Given the description of an element on the screen output the (x, y) to click on. 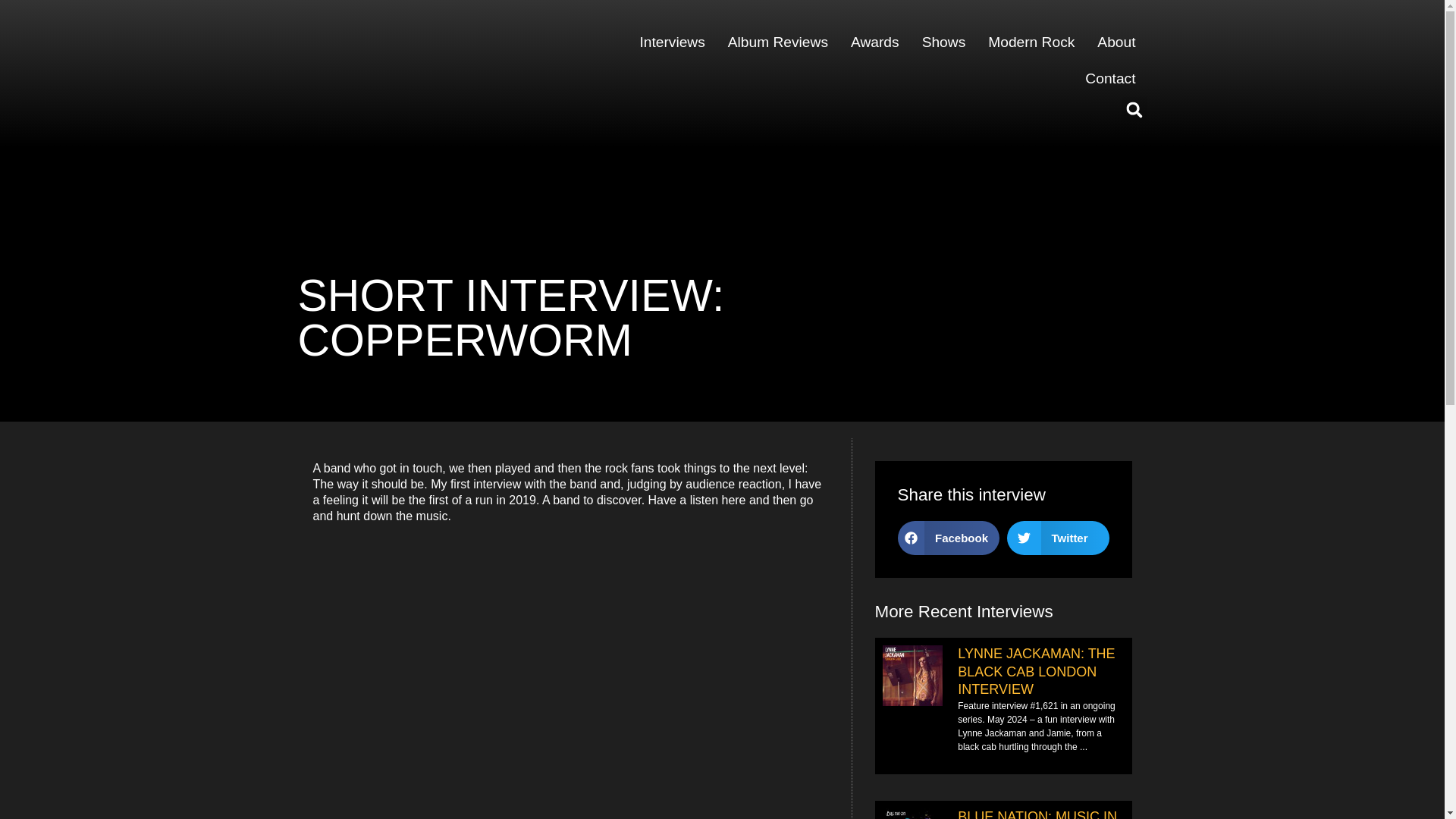
Awards (875, 42)
Contact (1110, 78)
Shows (943, 42)
Modern Rock (1031, 42)
About (1116, 42)
Album Reviews (778, 42)
Interviews (671, 42)
